Given the description of an element on the screen output the (x, y) to click on. 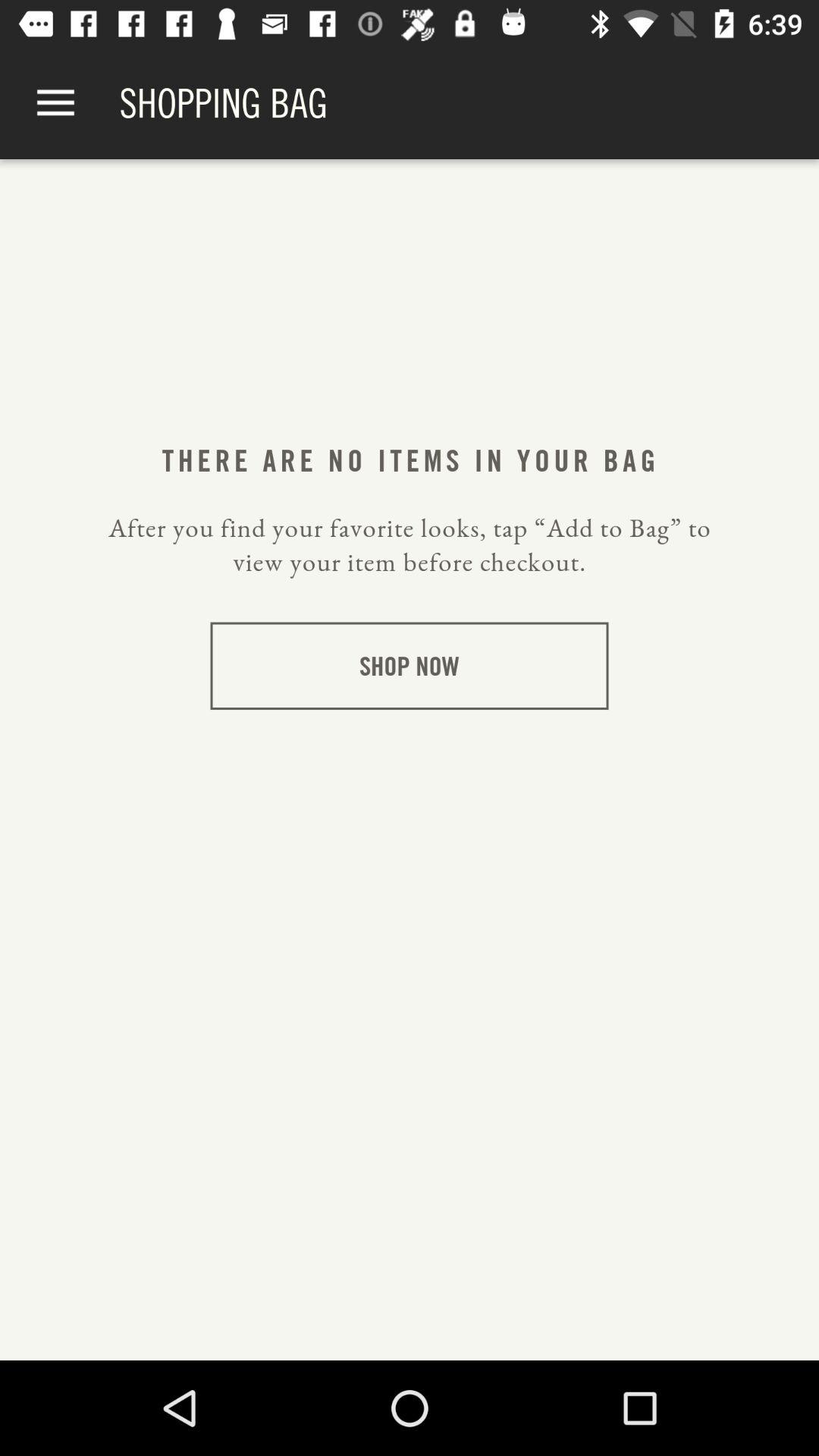
choose app next to the shopping bag item (55, 103)
